Given the description of an element on the screen output the (x, y) to click on. 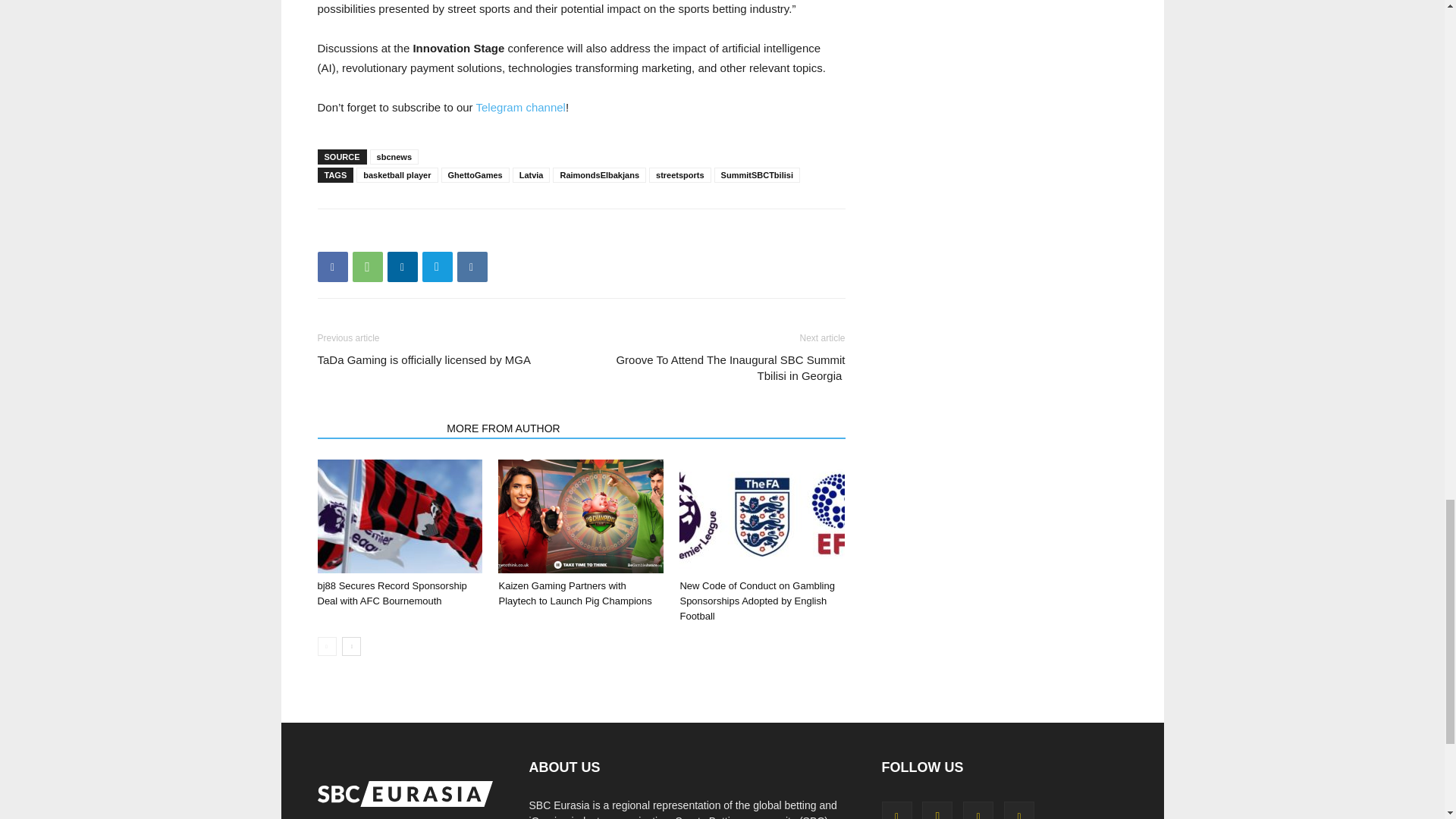
bottomFacebookLike (430, 232)
